Given the description of an element on the screen output the (x, y) to click on. 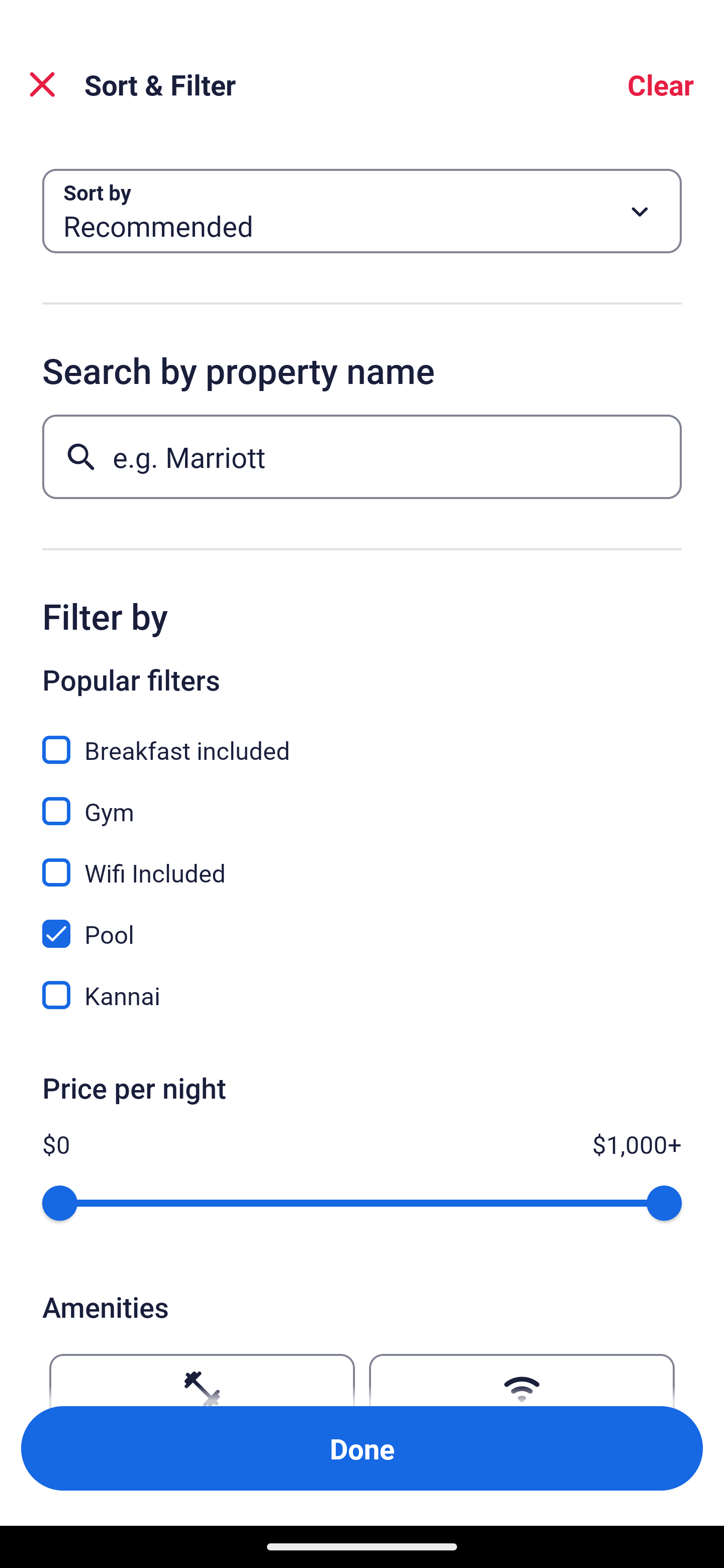
Close Sort and Filter (42, 84)
Clear (660, 84)
Sort by Button Recommended (361, 211)
e.g. Marriott Button (361, 455)
Breakfast included, Breakfast included (361, 738)
Gym, Gym (361, 800)
Wifi Included, Wifi Included (361, 861)
Pool, Pool (361, 922)
Kannai, Kannai (361, 995)
Apply and close Sort and Filter Done (361, 1448)
